Given the description of an element on the screen output the (x, y) to click on. 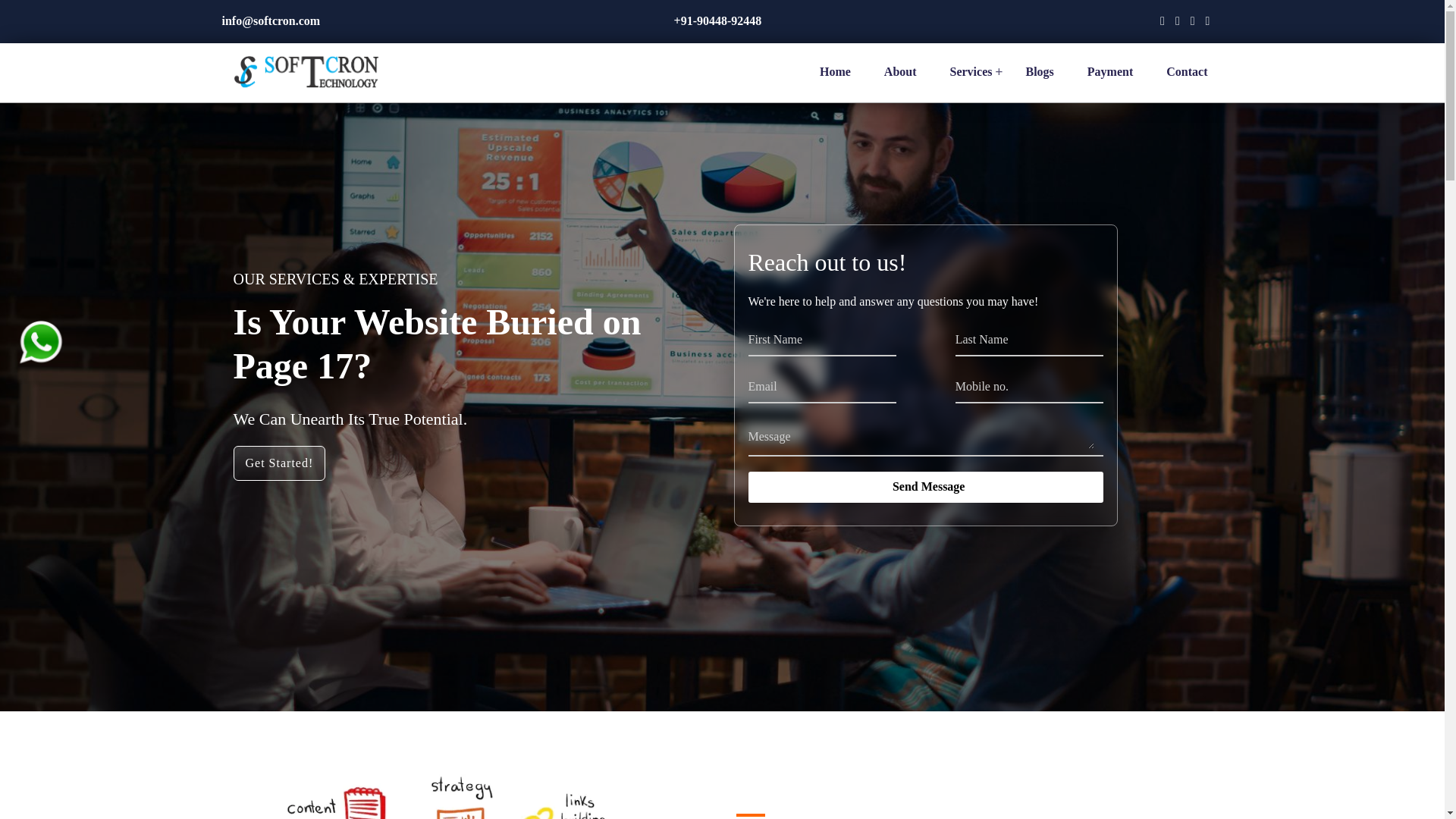
Send Message (925, 486)
Services (971, 79)
Payment (1109, 79)
Contact (1186, 79)
Home (834, 79)
Blogs (1038, 79)
About (900, 79)
